Given the description of an element on the screen output the (x, y) to click on. 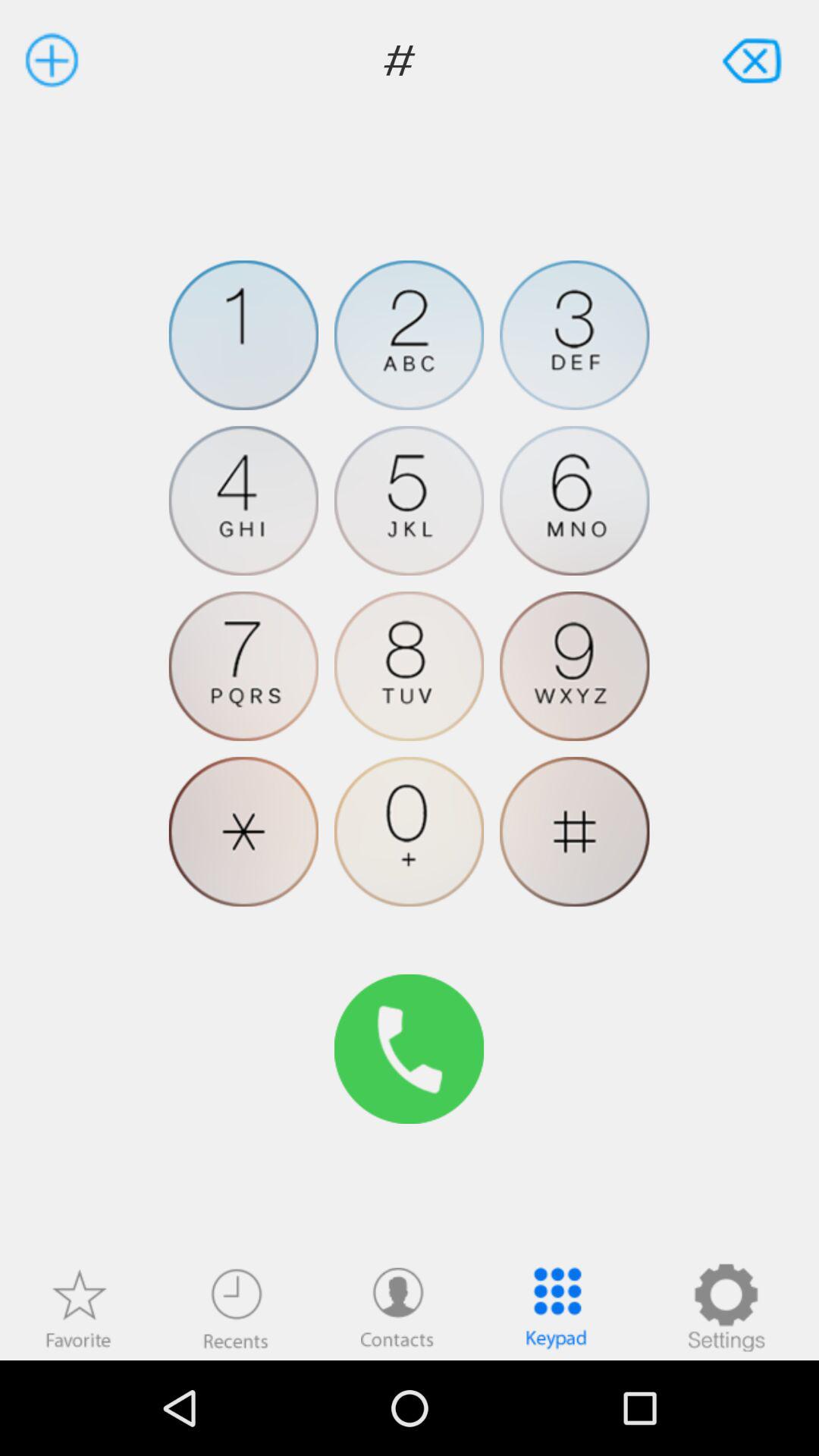
toggle 5 (409, 500)
